Given the description of an element on the screen output the (x, y) to click on. 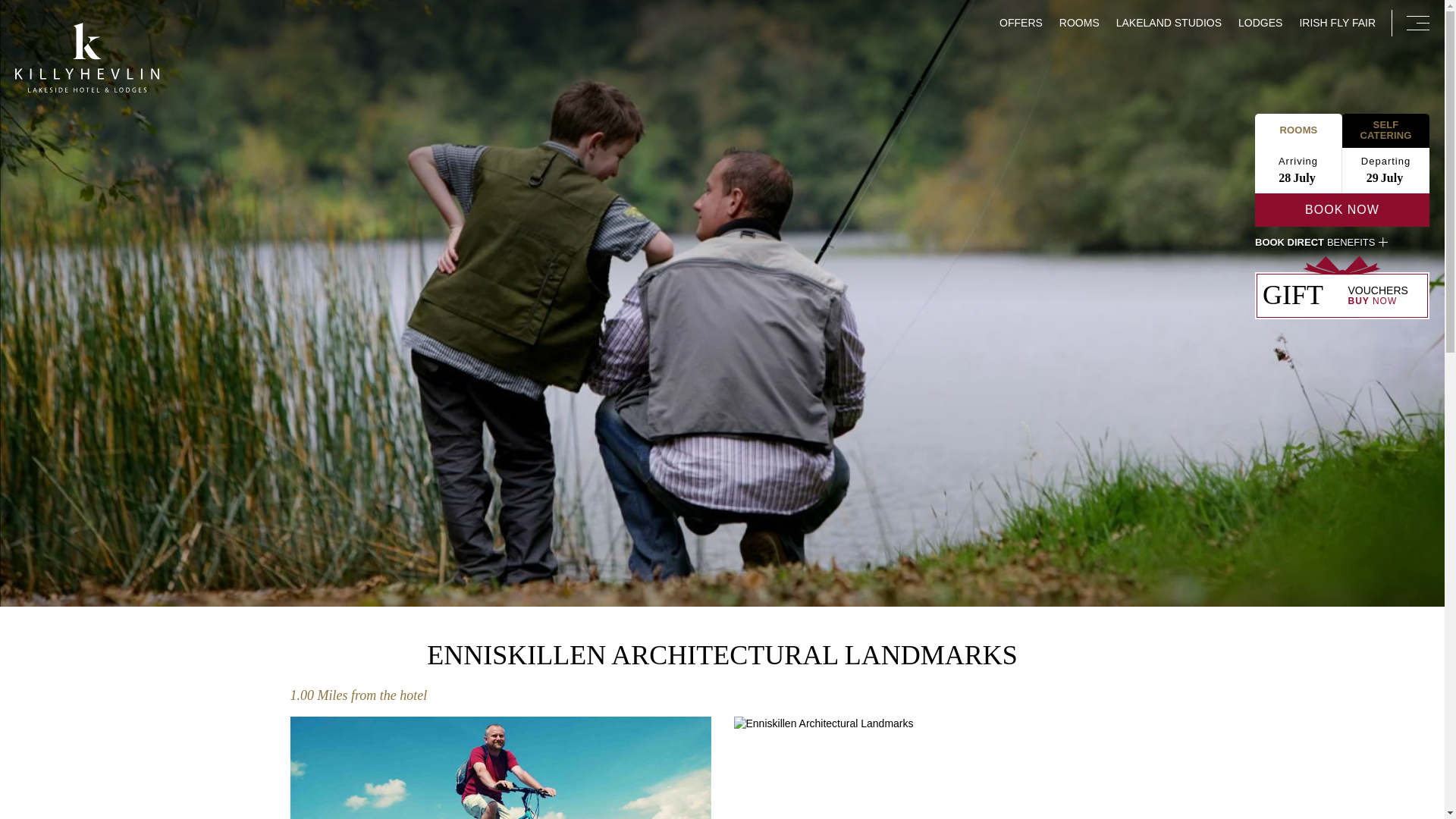
HEALTH CLUB (1176, 253)
GIFT VOUCHERS (1176, 140)
SPECIAL OFFERS (1176, 111)
ACCOMMODATION (1176, 166)
SELF CATERING (1176, 194)
HOME (1176, 81)
SPA HOTEL (1176, 224)
